Given the description of an element on the screen output the (x, y) to click on. 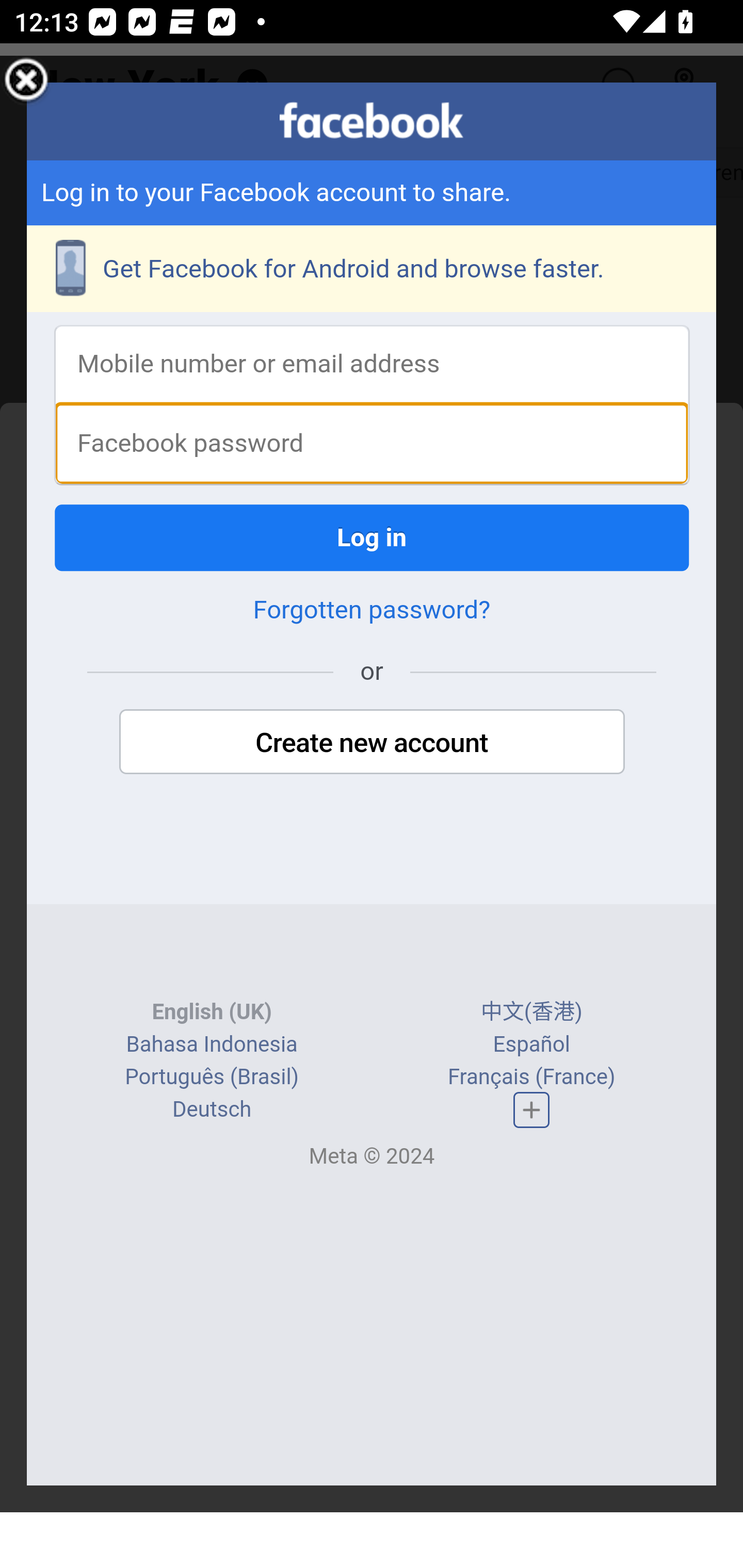
facebook (372, 121)
Get Facebook for Android and browse faster. (372, 270)
Log in (372, 538)
Forgotten password? (371, 611)
Create new account (371, 743)
中文(香港) (531, 1013)
Bahasa Indonesia (210, 1044)
Español (530, 1044)
Português (Brasil) (211, 1077)
Français (France) (530, 1077)
Complete list of languages (531, 1110)
Deutsch (211, 1110)
